Given the description of an element on the screen output the (x, y) to click on. 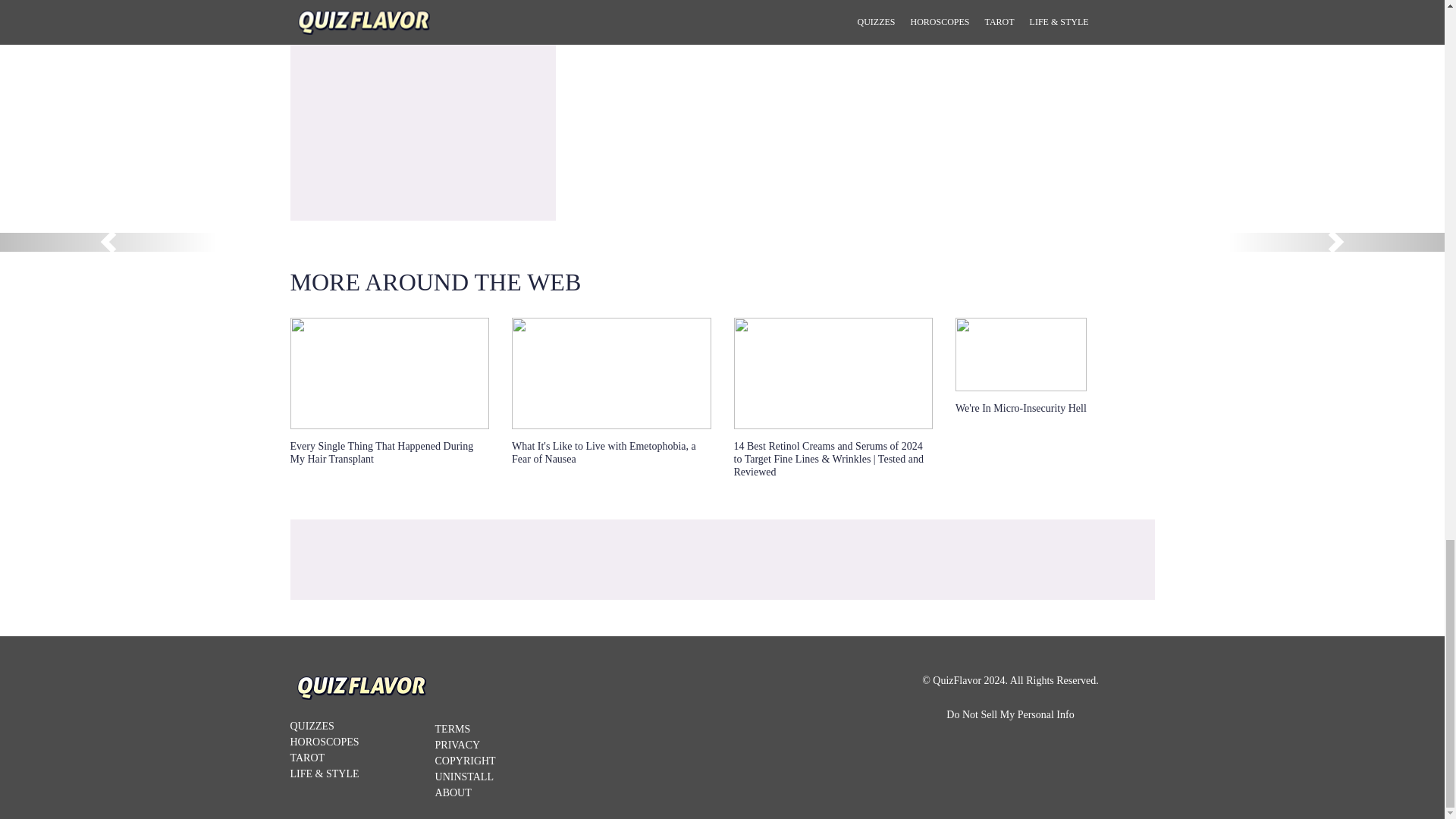
Previous (108, 241)
PETS (1021, 28)
QuizFlavor (361, 695)
CHINESE ZODIAC (721, 28)
